Given the description of an element on the screen output the (x, y) to click on. 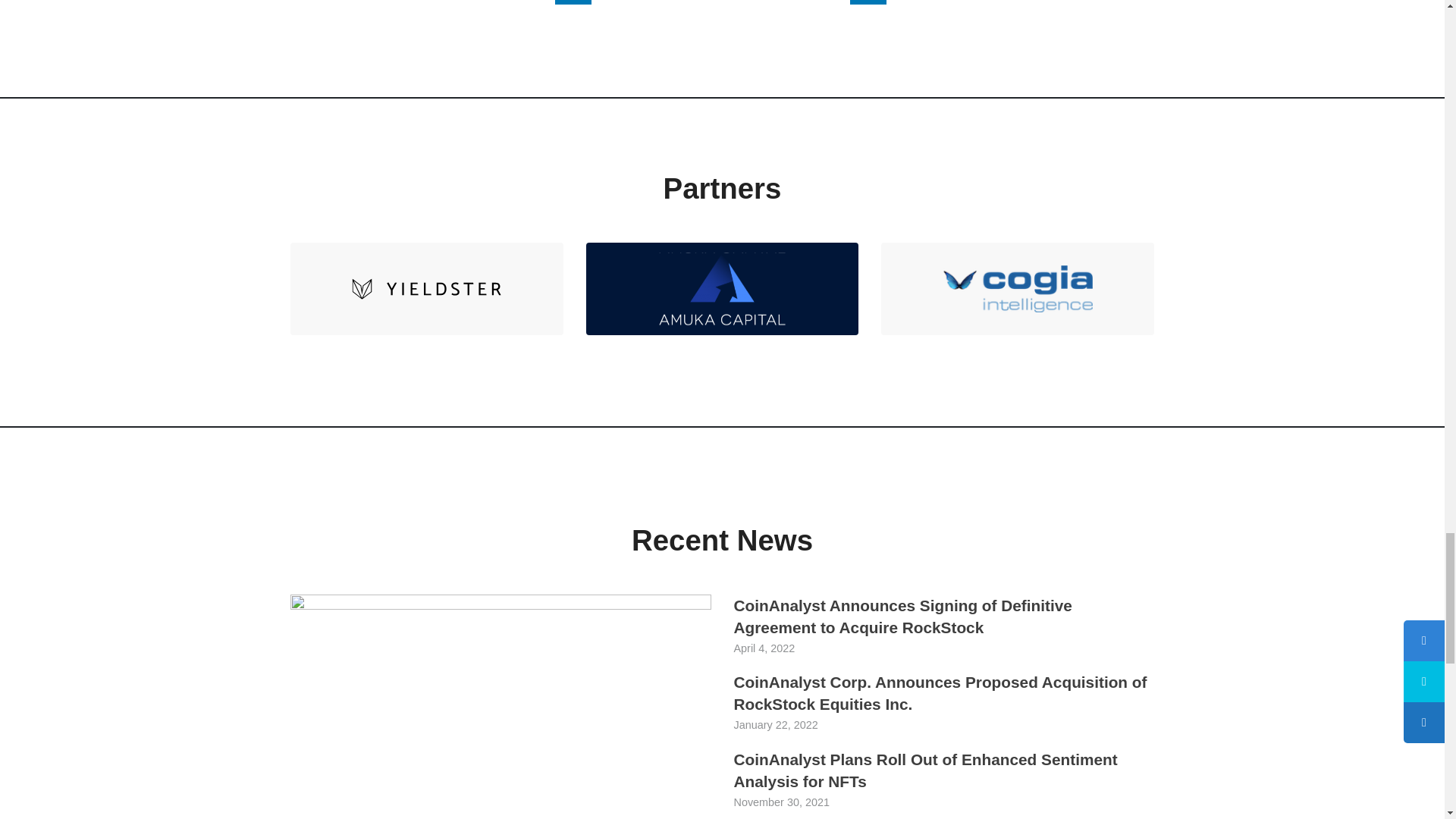
Linkedin (572, 2)
Linkedin (868, 2)
Linkedin (572, 2)
April 4, 2022 (763, 648)
Linkedin (868, 2)
